Given the description of an element on the screen output the (x, y) to click on. 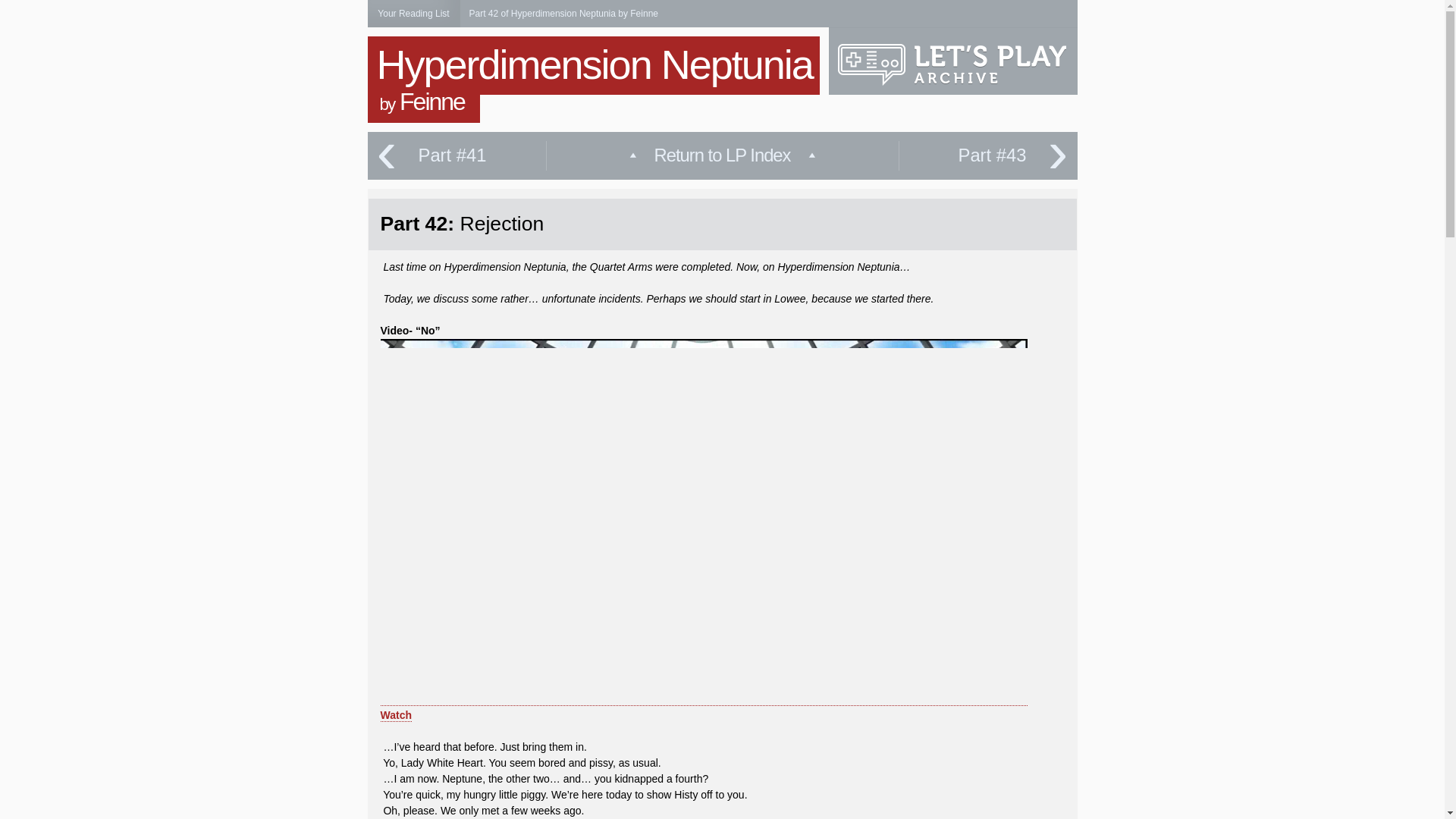
Click to expand and view your full reading list (413, 13)
Feinne (431, 101)
Part 42 of Hyperdimension Neptunia by Feinne (563, 13)
